Given the description of an element on the screen output the (x, y) to click on. 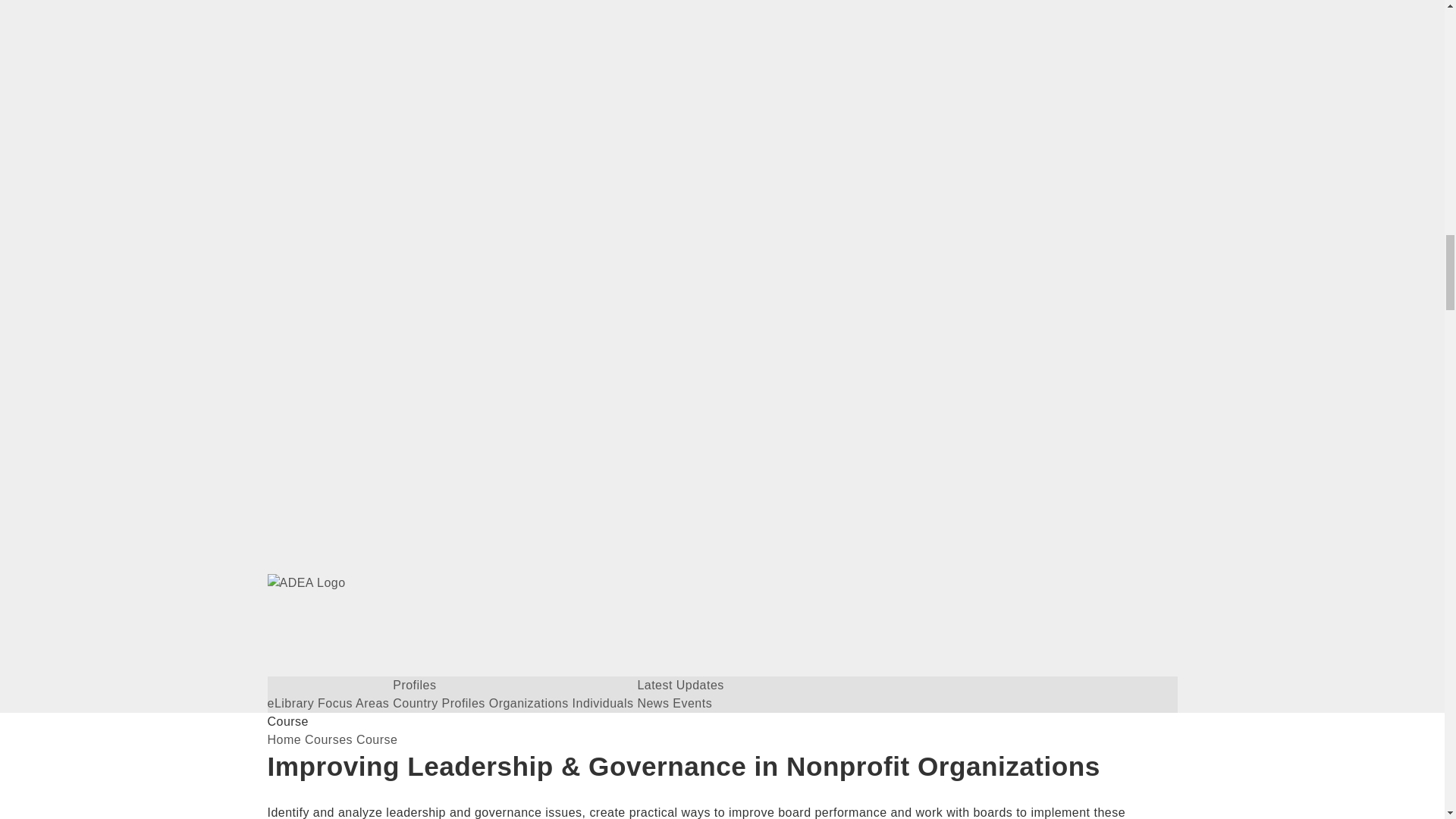
Latest Updates (680, 684)
Events (691, 703)
News (652, 703)
Focus Areas (352, 703)
eLibrary (290, 703)
Home (283, 739)
Individuals (602, 703)
Country Profiles (438, 703)
Profiles (414, 684)
Courses (328, 739)
Course (376, 739)
Organizations (529, 703)
